Given the description of an element on the screen output the (x, y) to click on. 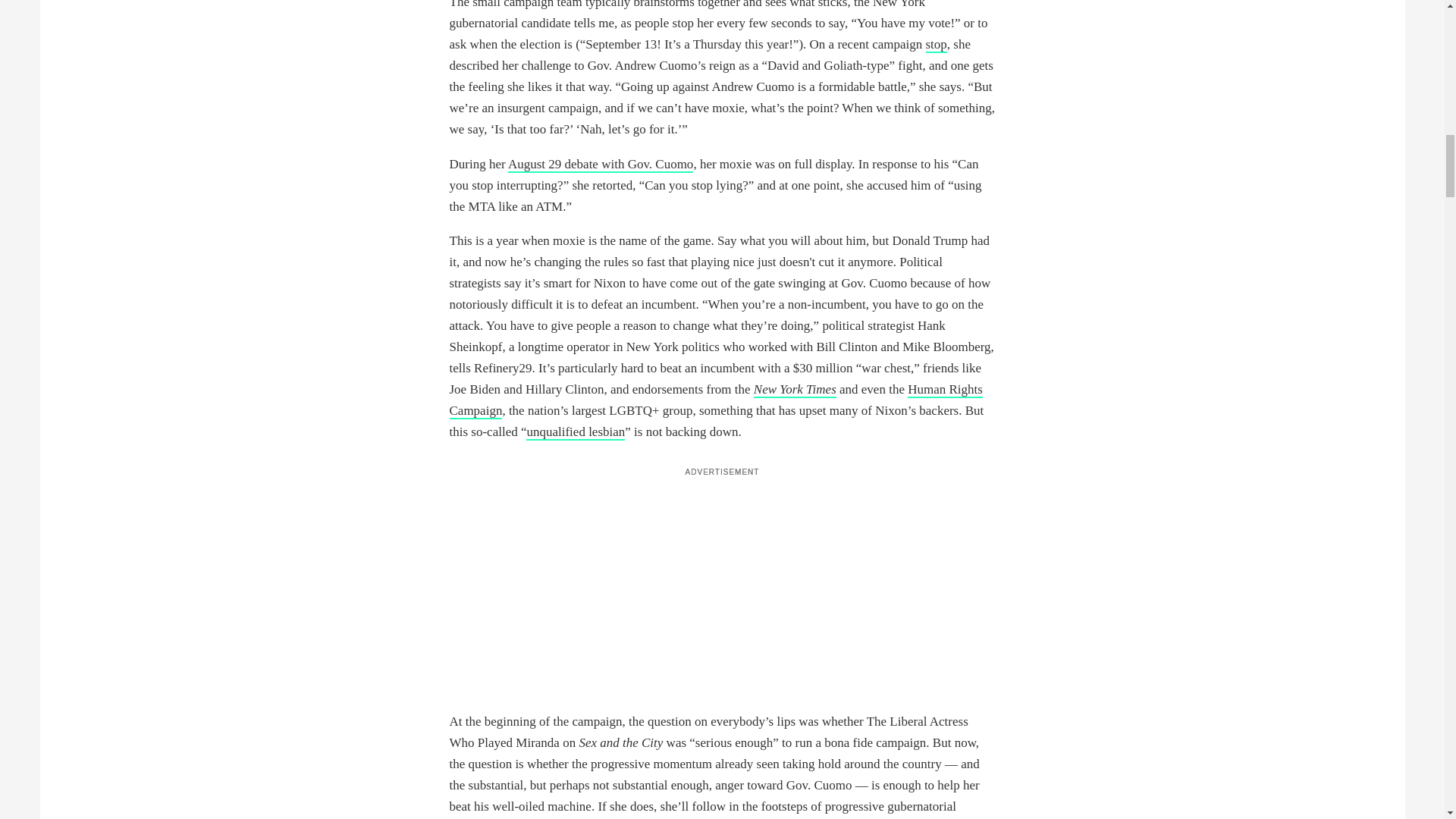
stop (935, 44)
Human Rights Campaign (714, 400)
unqualified lesbian (574, 432)
New York Times (794, 390)
August 29 debate with Gov. Cuomo (600, 164)
